Given the description of an element on the screen output the (x, y) to click on. 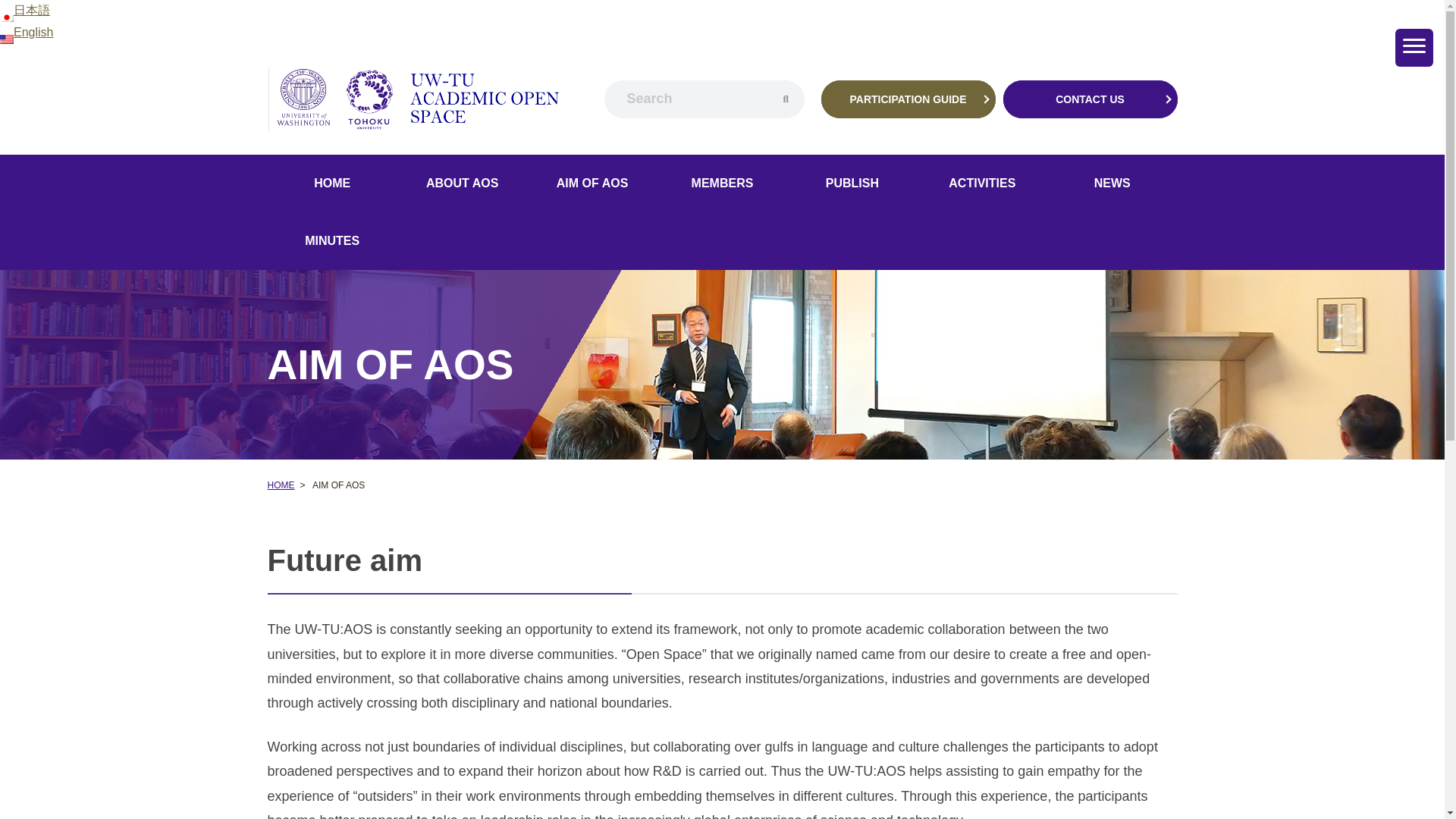
ABOUT AOS (462, 183)
English (26, 31)
CONTACT US (1089, 98)
HOME (331, 183)
HOME (280, 484)
NEWS (1111, 183)
MINUTES (331, 241)
MEMBERS (722, 183)
ACTIVITIES (981, 183)
English (26, 31)
Japanese (24, 10)
PUBLISH (852, 183)
PARTICIPATION GUIDE (907, 98)
AIM OF AOS (591, 183)
